Given the description of an element on the screen output the (x, y) to click on. 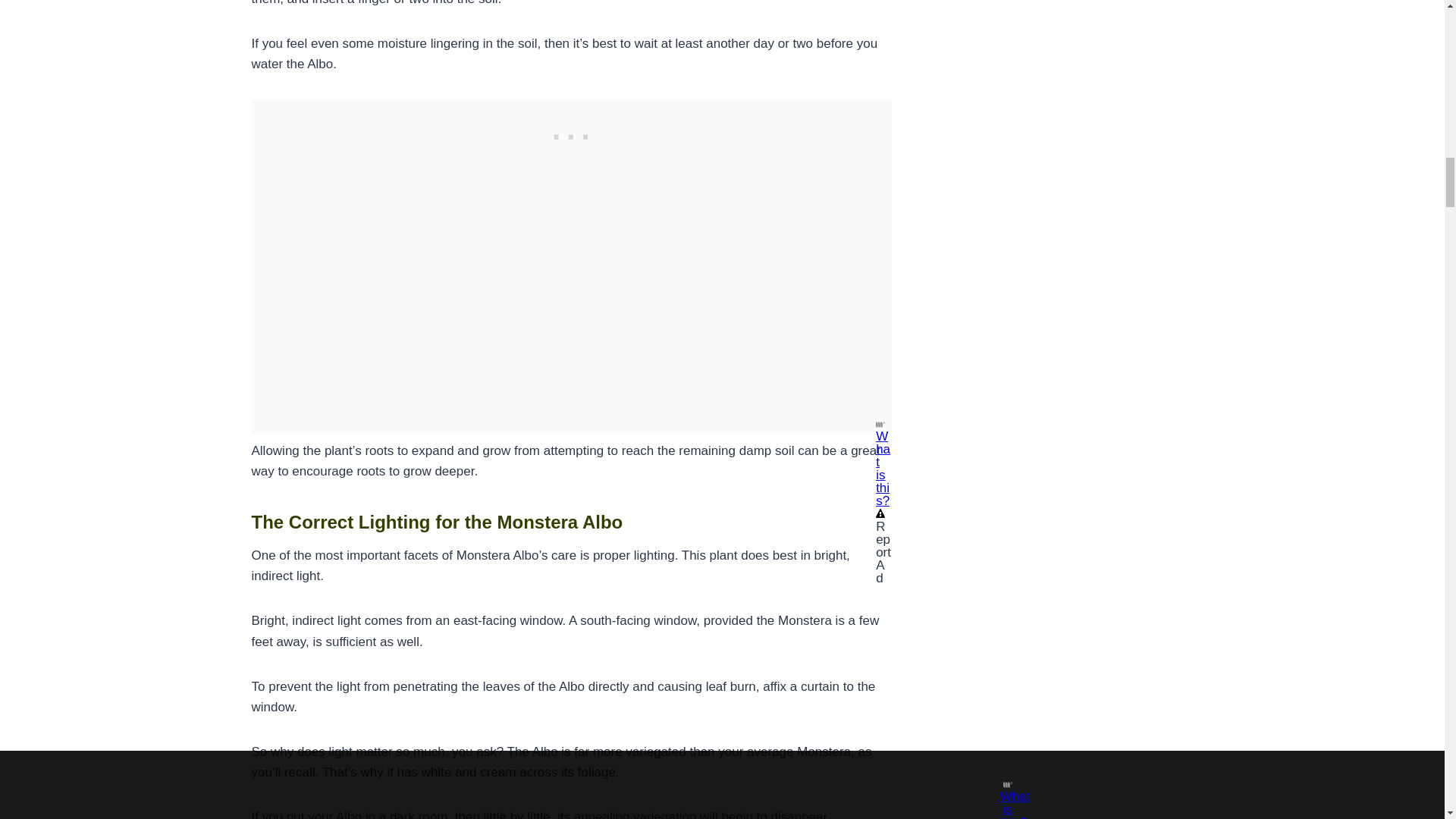
3rd party ad content (571, 133)
